Given the description of an element on the screen output the (x, y) to click on. 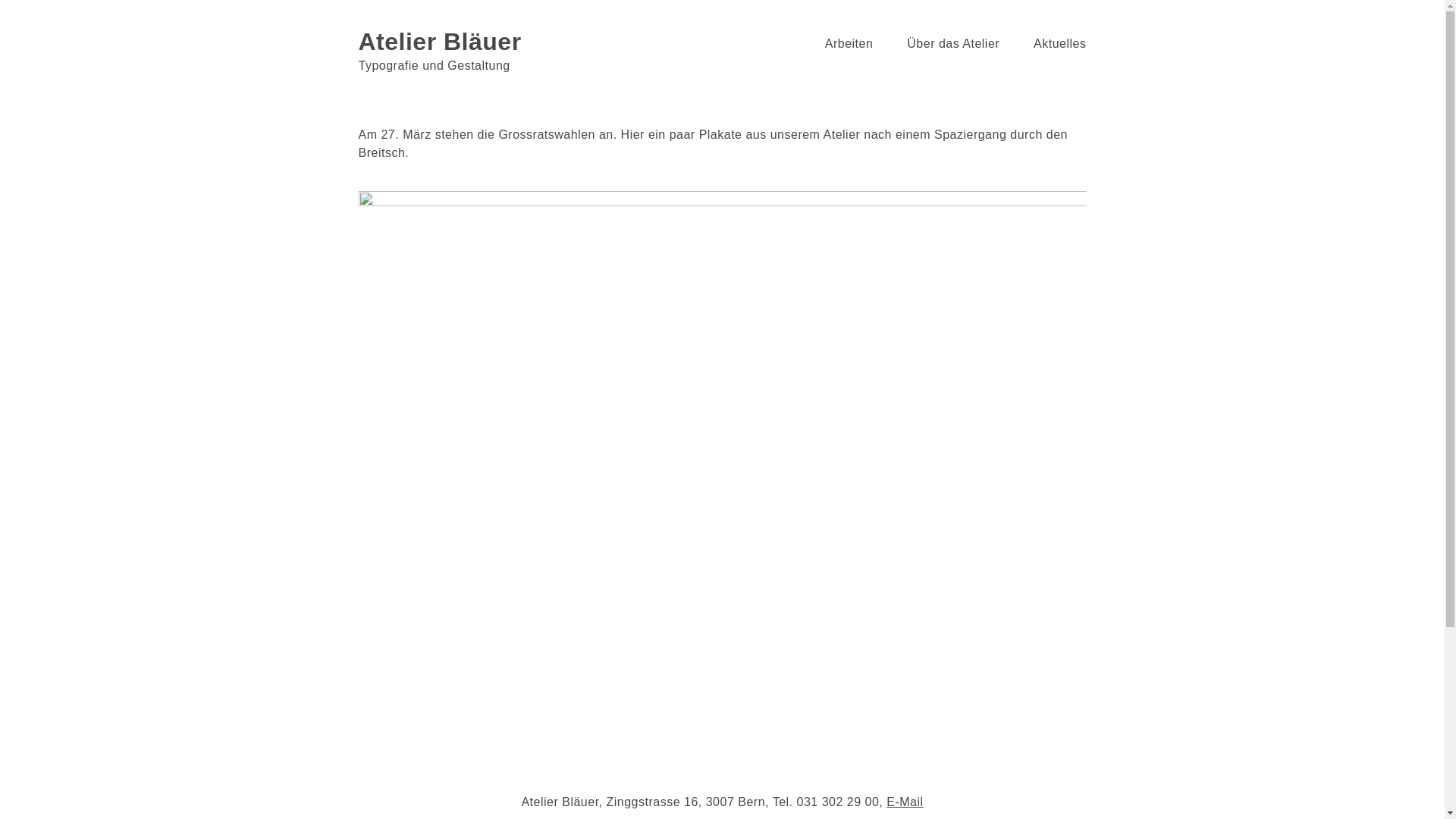
E-Mail Element type: text (904, 801)
Aktuelles Element type: text (1051, 43)
Arbeiten Element type: text (841, 43)
